Given the description of an element on the screen output the (x, y) to click on. 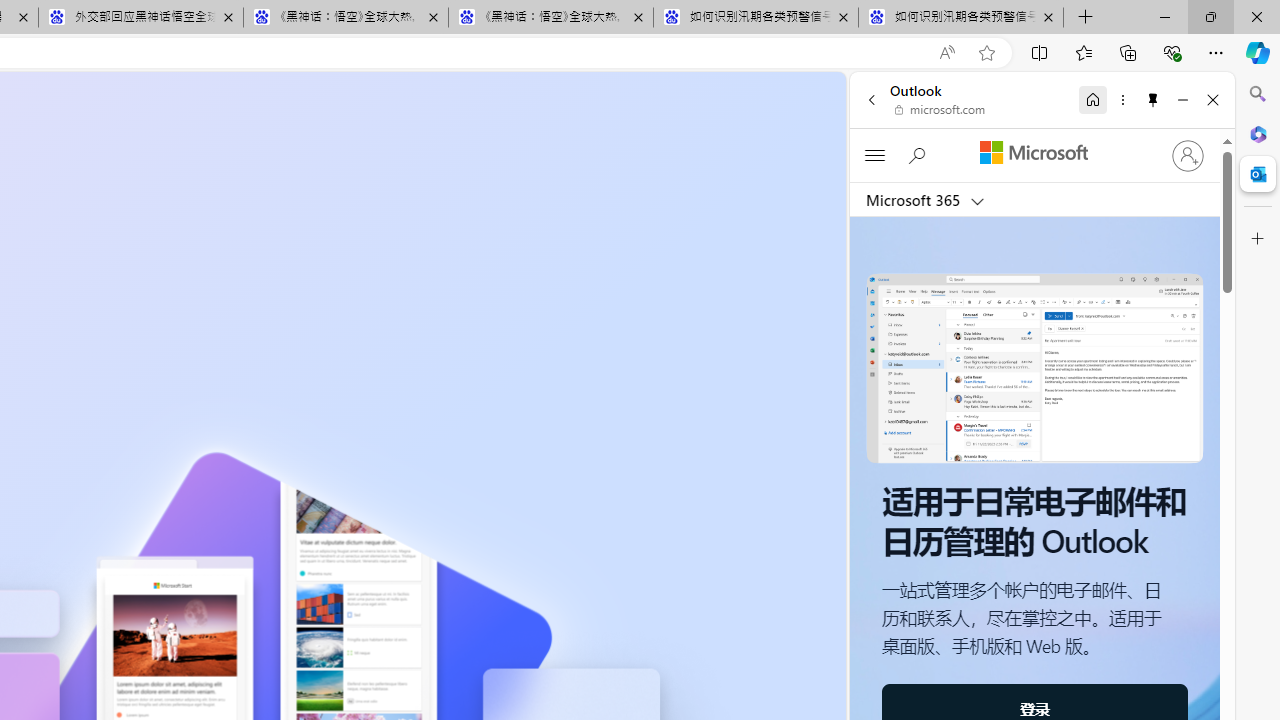
Microsoft 365 (1258, 133)
Favorites (1083, 52)
More options (1122, 99)
microsoft.com (940, 110)
Close tab (1048, 16)
Add this page to favorites (Ctrl+D) (986, 53)
Back (871, 99)
Search (1258, 94)
Home (1093, 99)
Split screen (1039, 52)
New Tab (1085, 17)
